Given the description of an element on the screen output the (x, y) to click on. 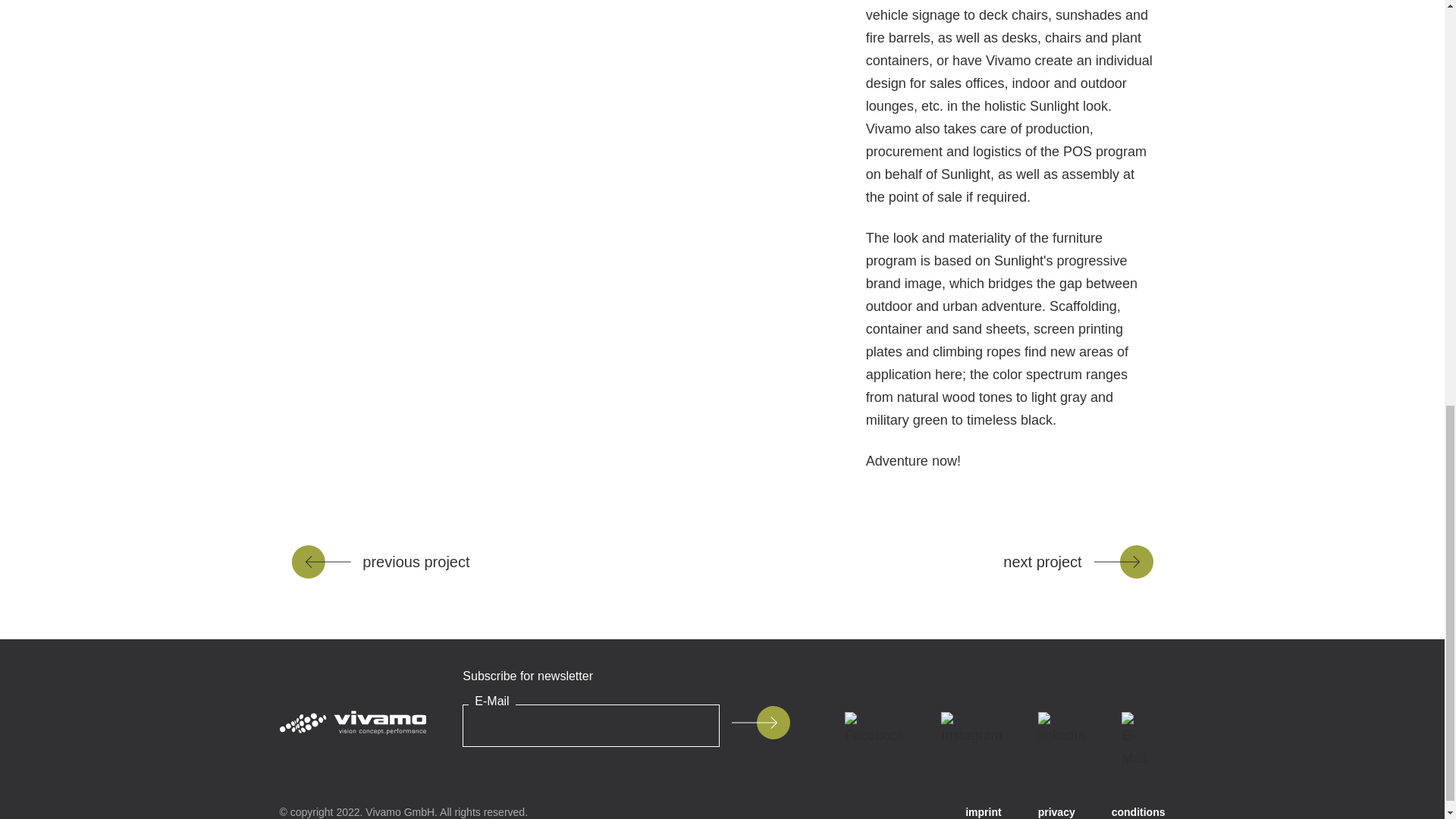
Facebook (875, 728)
submit form (760, 722)
next project (1078, 561)
conditions (1139, 812)
privacy (1056, 812)
previous project (379, 561)
imprint (983, 812)
linkedIn (1061, 728)
Instagram (971, 728)
